Given the description of an element on the screen output the (x, y) to click on. 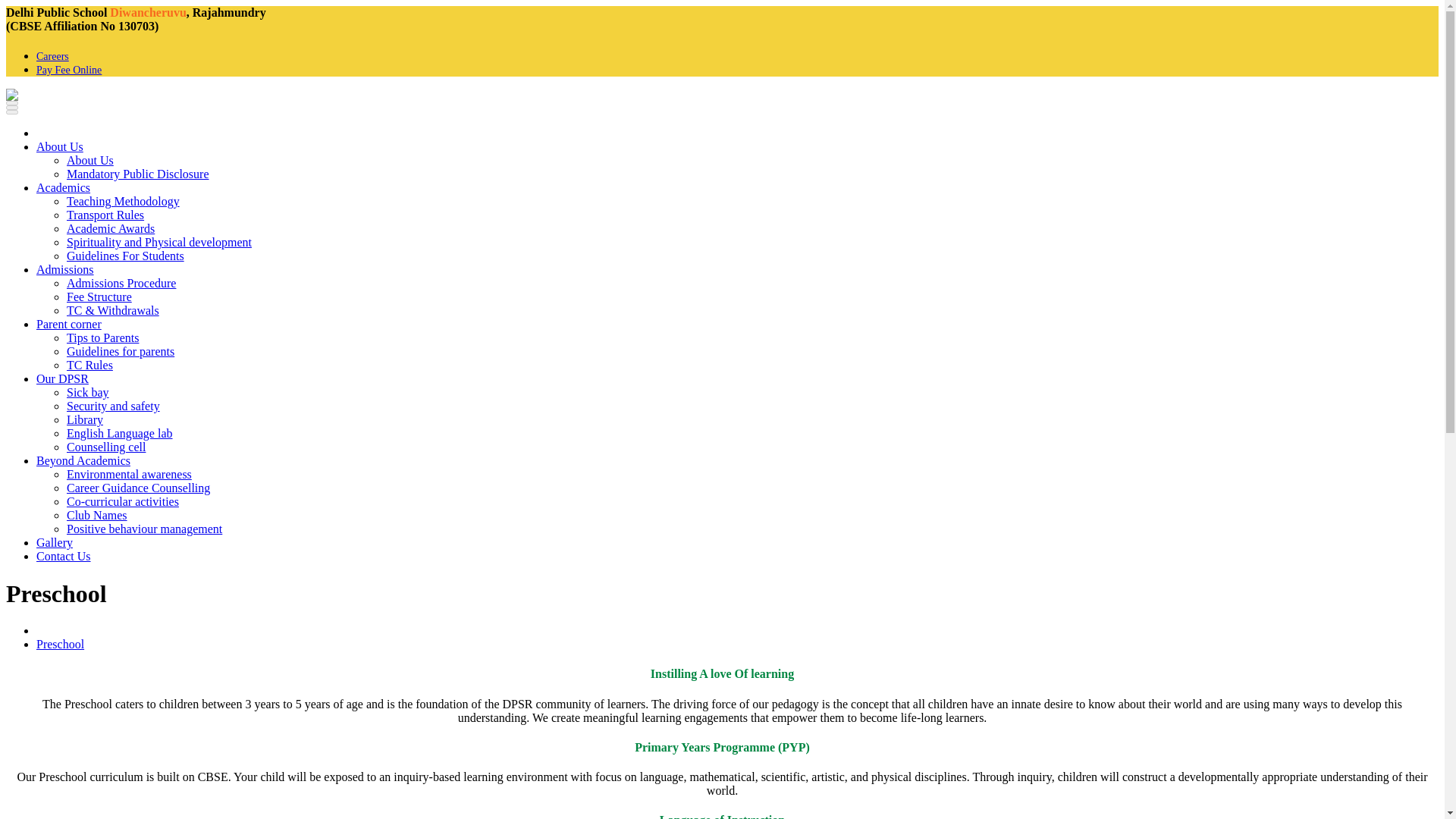
Environmental awareness (129, 473)
About Us (59, 146)
About Us (89, 160)
Tips to Parents (102, 337)
Admissions Procedure (121, 282)
English Language lab (119, 432)
Preschool (60, 644)
Co-curricular activities (122, 501)
Beyond Academics (83, 460)
Admissions (65, 269)
Parent corner (68, 323)
Transport Rules (105, 214)
Our DPSR (62, 378)
Academic Awards (110, 228)
Mandatory Public Disclosure (137, 173)
